Given the description of an element on the screen output the (x, y) to click on. 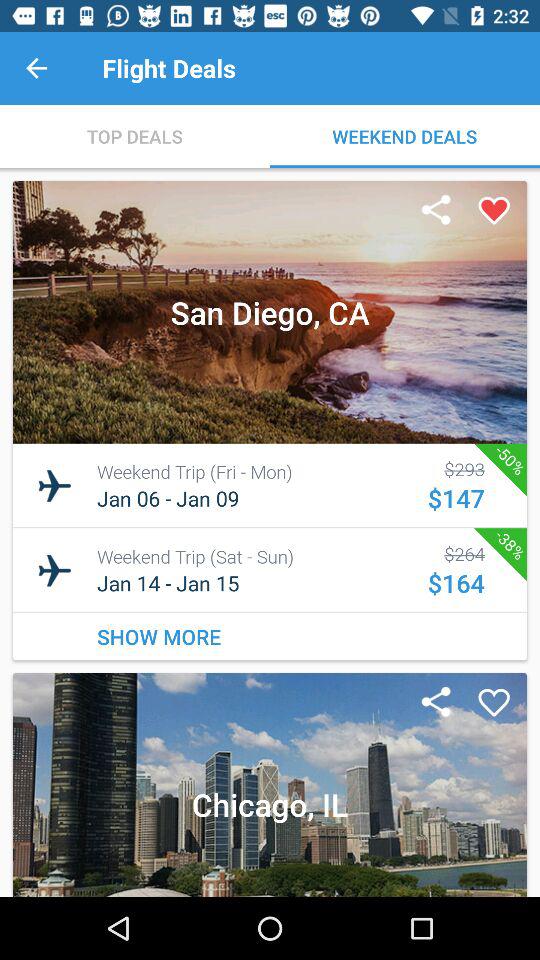
open the item to the left of the flight deals icon (36, 68)
